Given the description of an element on the screen output the (x, y) to click on. 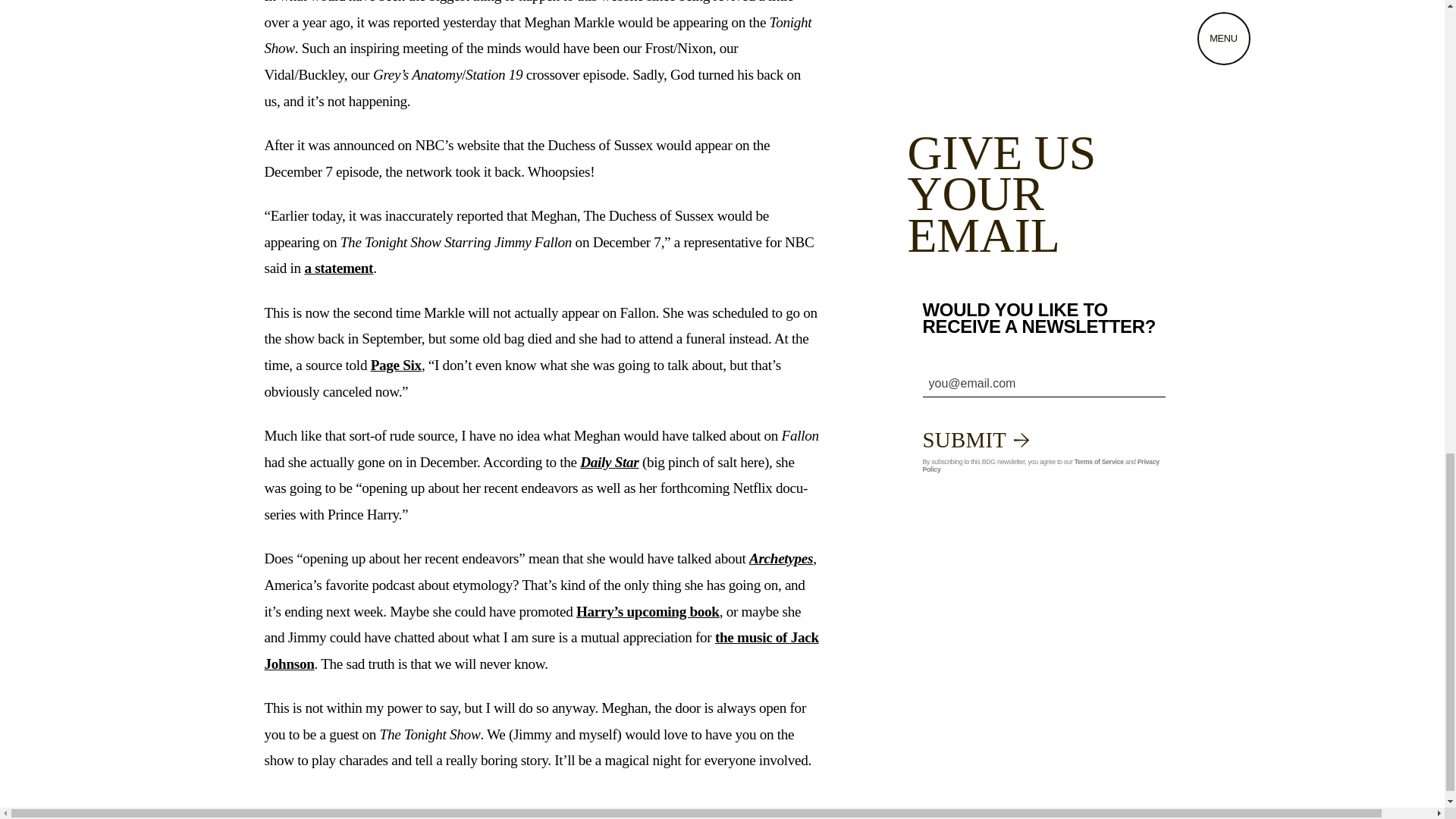
a statement (338, 268)
the music of Jack Johnson (540, 650)
Daily Star (609, 462)
Archetypes (780, 558)
Privacy Policy (1039, 465)
Page Six (396, 365)
SUBMIT (975, 439)
Terms of Service (1099, 461)
